Given the description of an element on the screen output the (x, y) to click on. 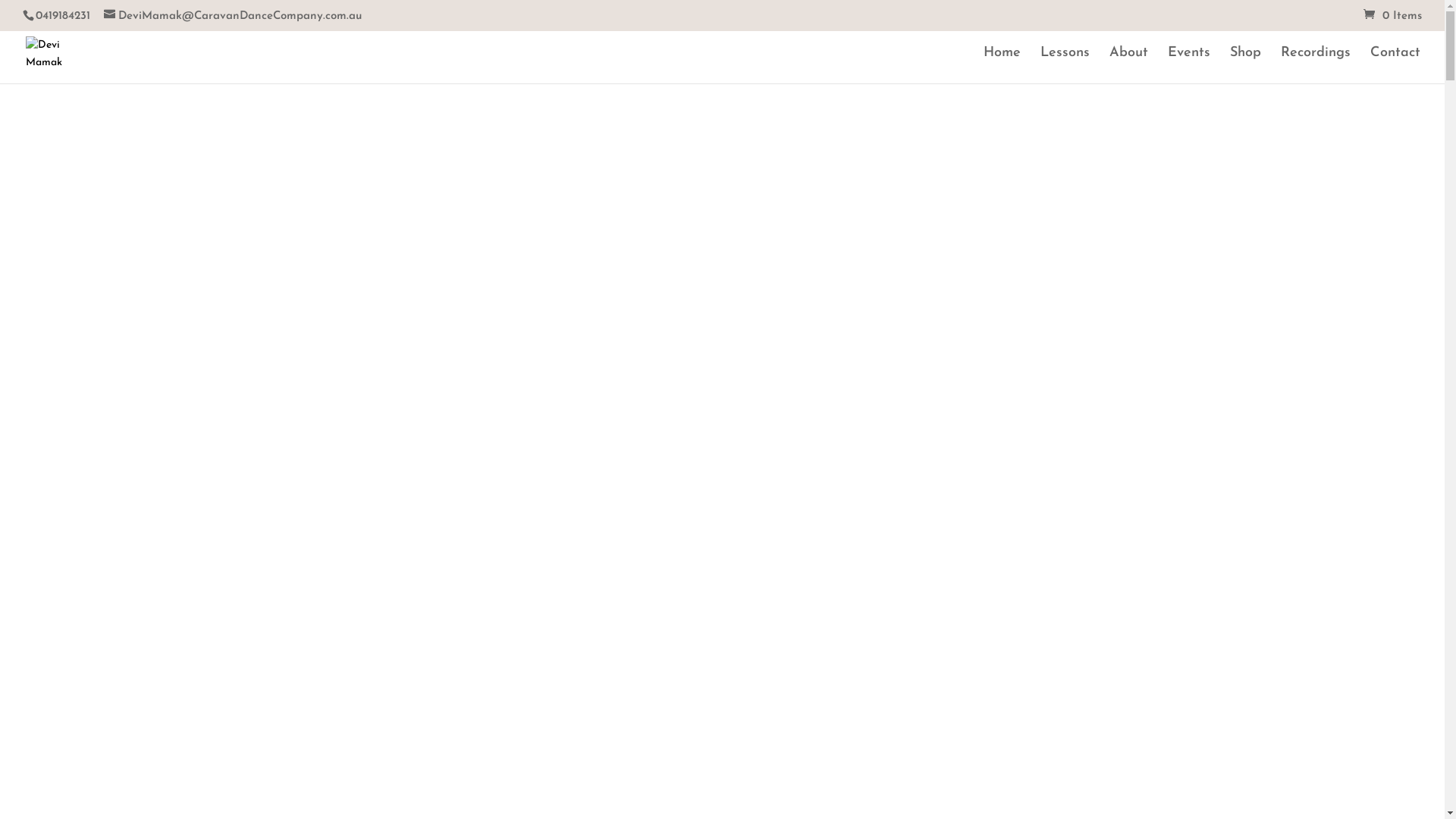
Recordings Element type: text (1315, 65)
Shop Element type: text (1245, 65)
Lessons Element type: text (1064, 65)
0 Items Element type: text (1392, 15)
Events Element type: text (1188, 65)
Contact Element type: text (1395, 65)
Home Element type: text (1001, 65)
About Element type: text (1128, 65)
DeviMamak@CaravanDanceCompany.com.au Element type: text (232, 15)
